Given the description of an element on the screen output the (x, y) to click on. 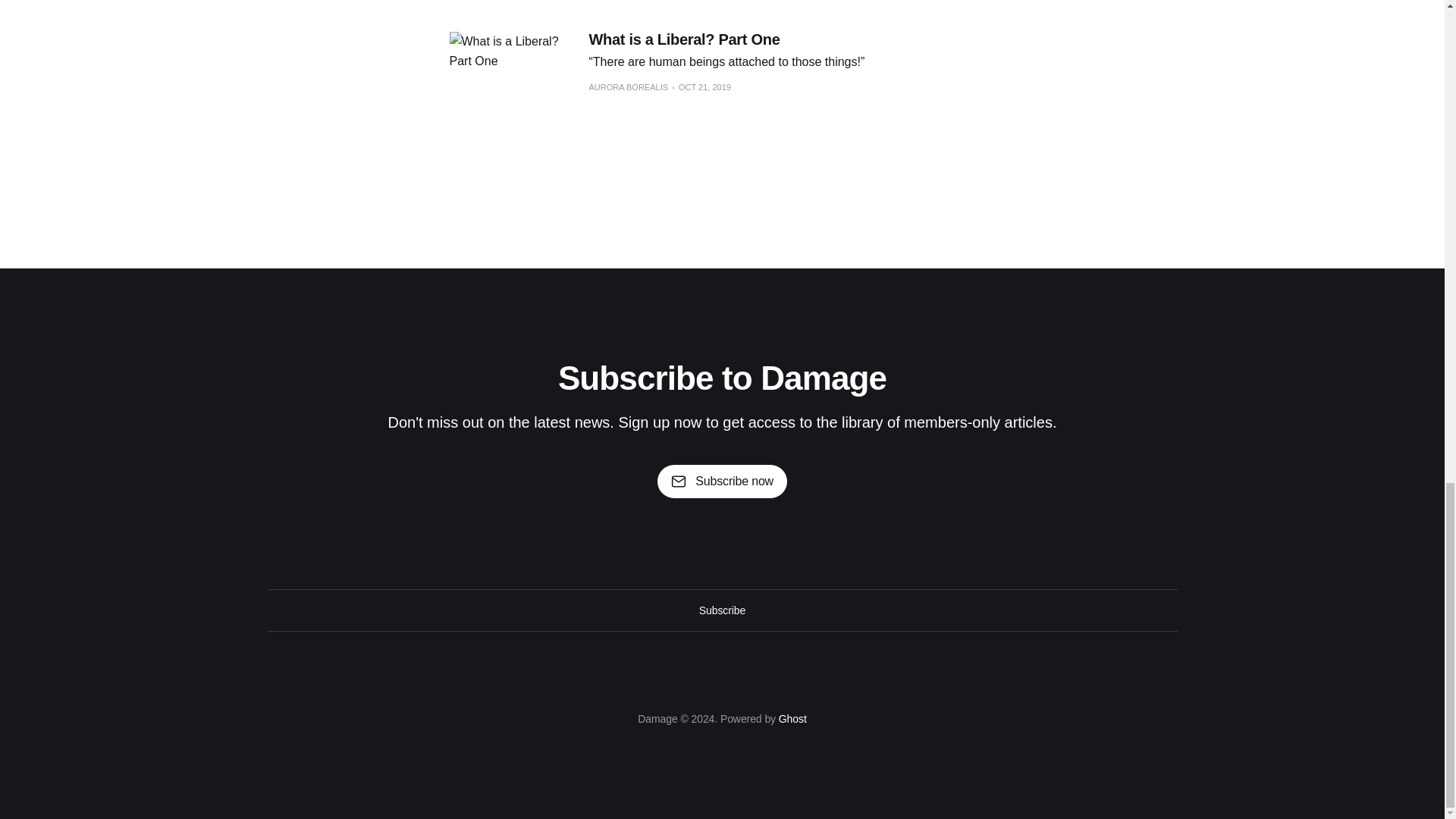
Ghost (792, 718)
Subscribe now (722, 481)
Subscribe (721, 610)
